Given the description of an element on the screen output the (x, y) to click on. 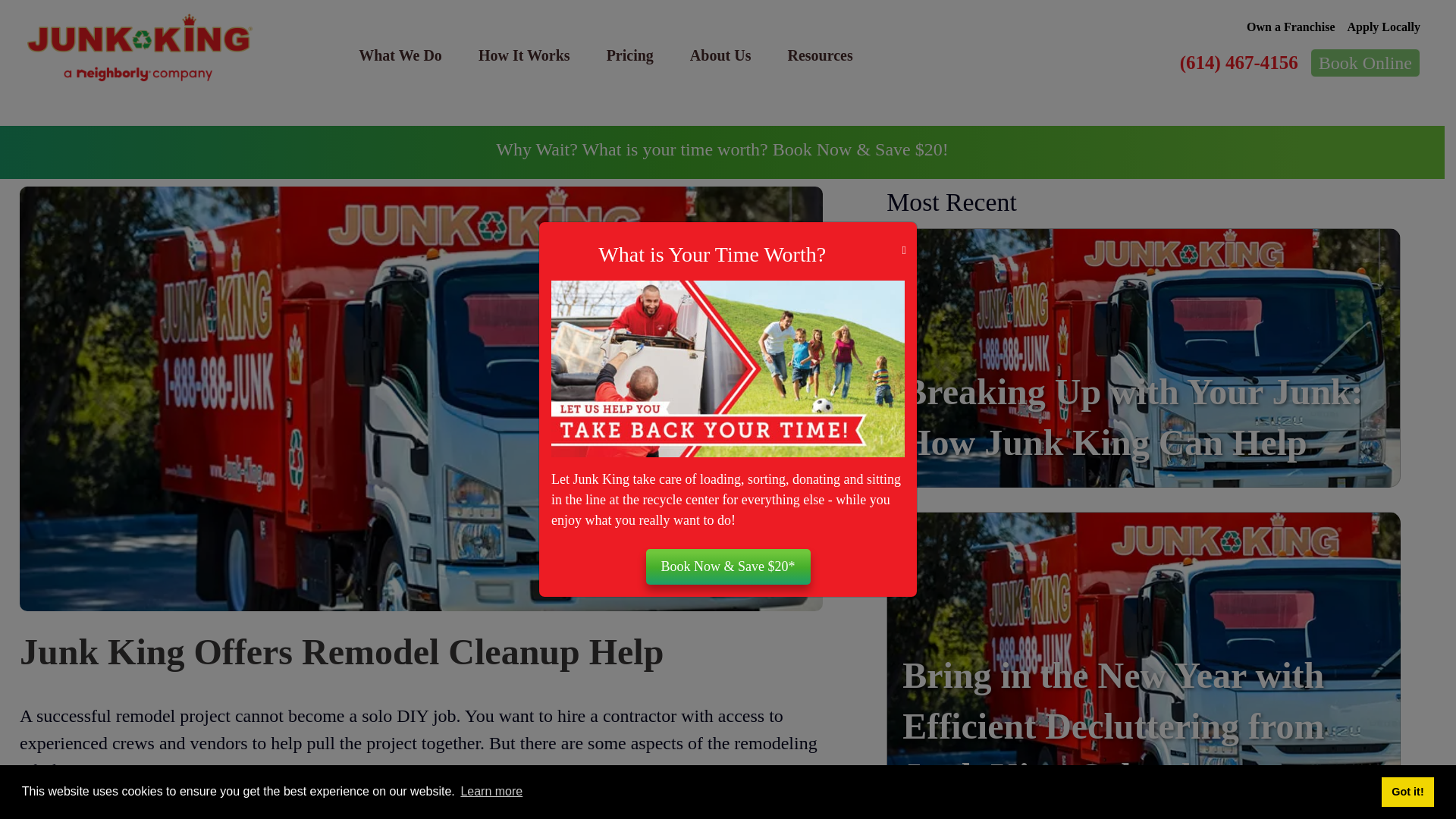
Got it! (1407, 791)
Apply Locally (1384, 27)
About Us (720, 54)
Junk King (139, 47)
Book Online (1365, 62)
Learn more (491, 791)
Breaking Up with Your Junk: How Junk King Can Help (1132, 416)
How It Works (524, 54)
What We Do (400, 54)
Image (727, 368)
Banner Pane (721, 152)
Resources (819, 54)
